Given the description of an element on the screen output the (x, y) to click on. 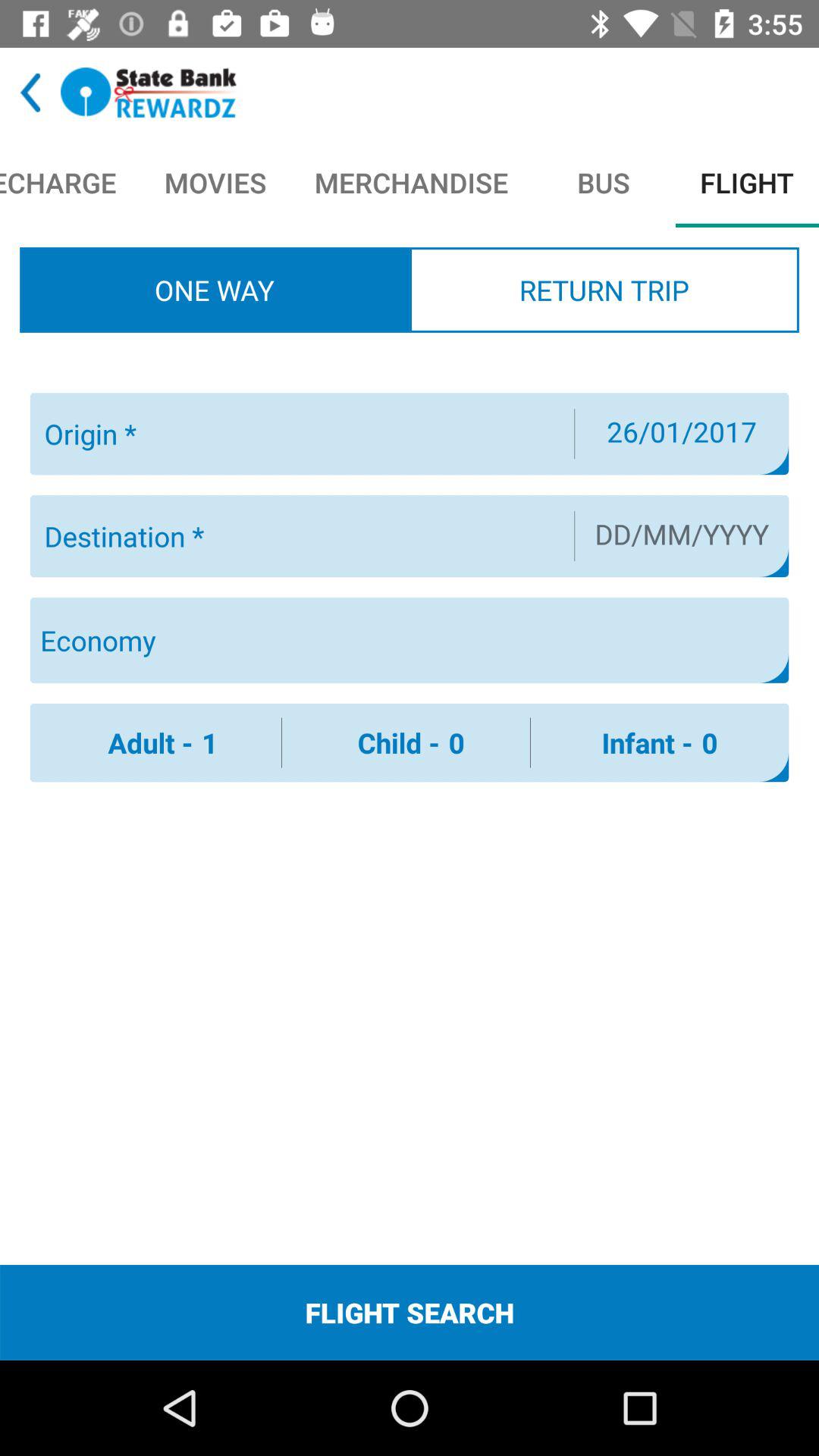
go to back (30, 92)
